Given the description of an element on the screen output the (x, y) to click on. 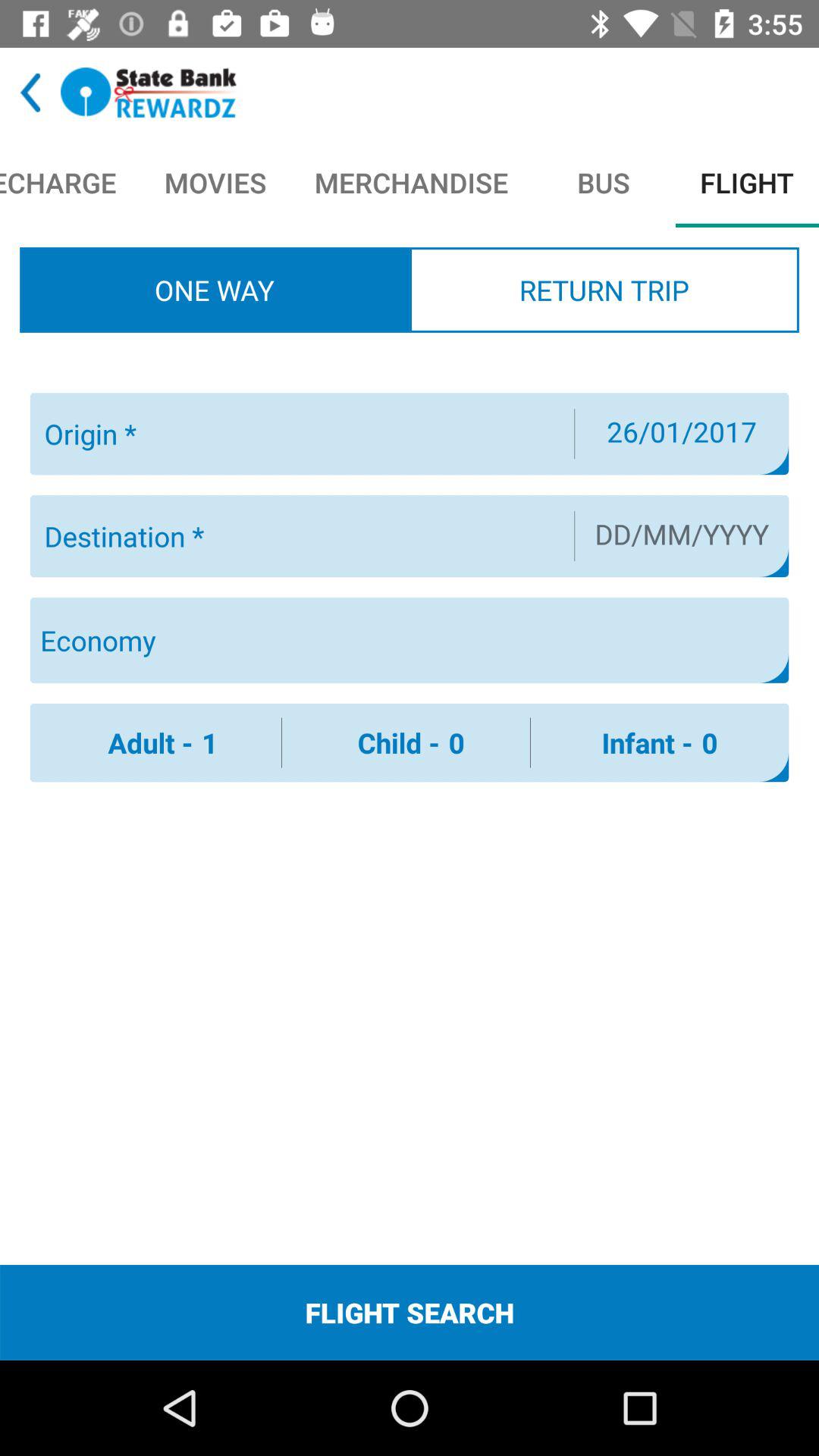
go to back (30, 92)
